Given the description of an element on the screen output the (x, y) to click on. 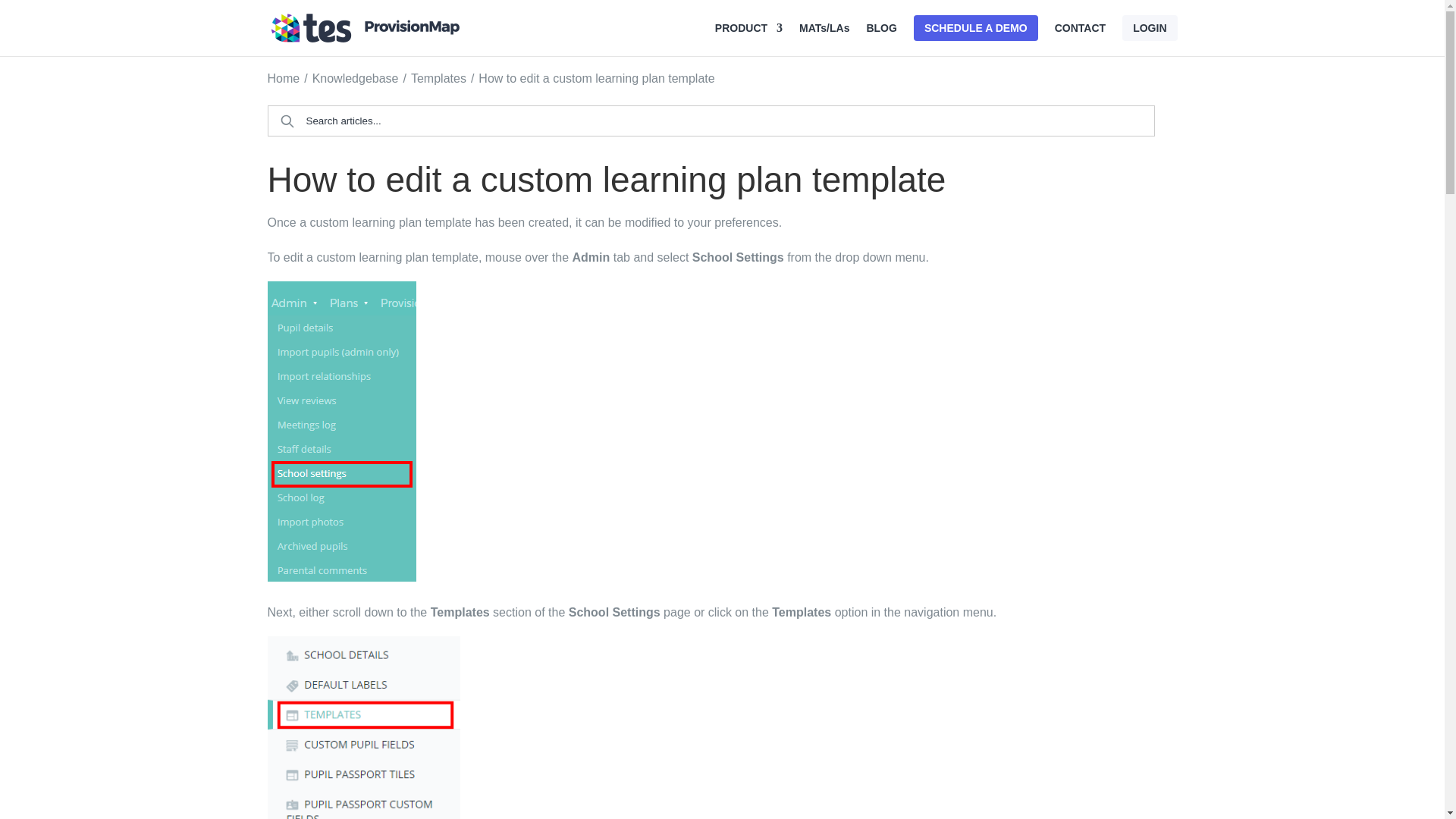
LOGIN (1149, 27)
PRODUCT (748, 39)
SCHEDULE A DEMO (976, 27)
Knowledgebase (355, 78)
CONTACT (1079, 39)
BLOG (881, 39)
Home (282, 78)
How to edit a custom learning plan template (596, 78)
Templates (437, 78)
